Given the description of an element on the screen output the (x, y) to click on. 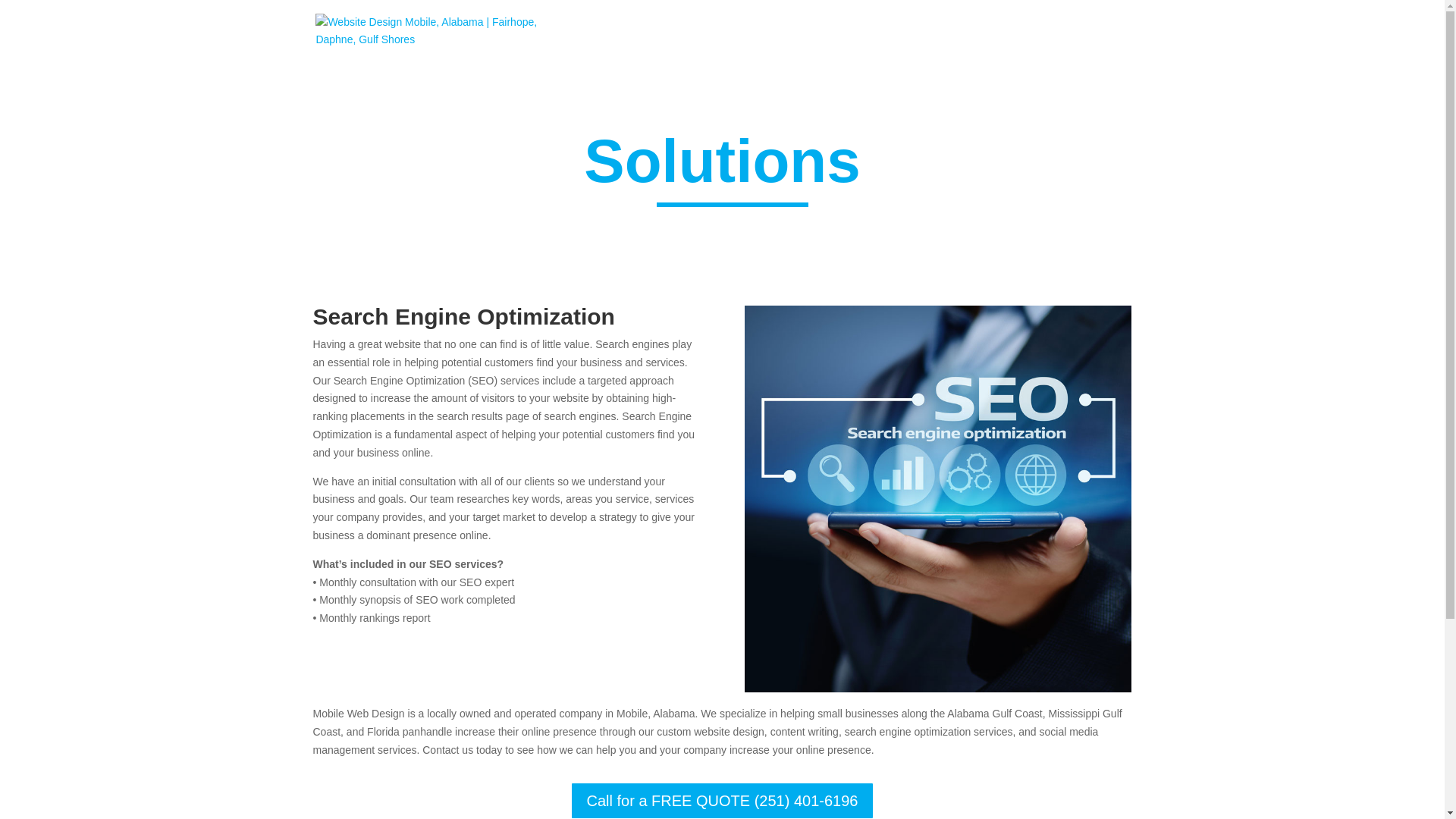
Testimonials (944, 42)
Contact (1080, 42)
Services (795, 42)
Our Work (868, 42)
Social (1018, 42)
